Given the description of an element on the screen output the (x, y) to click on. 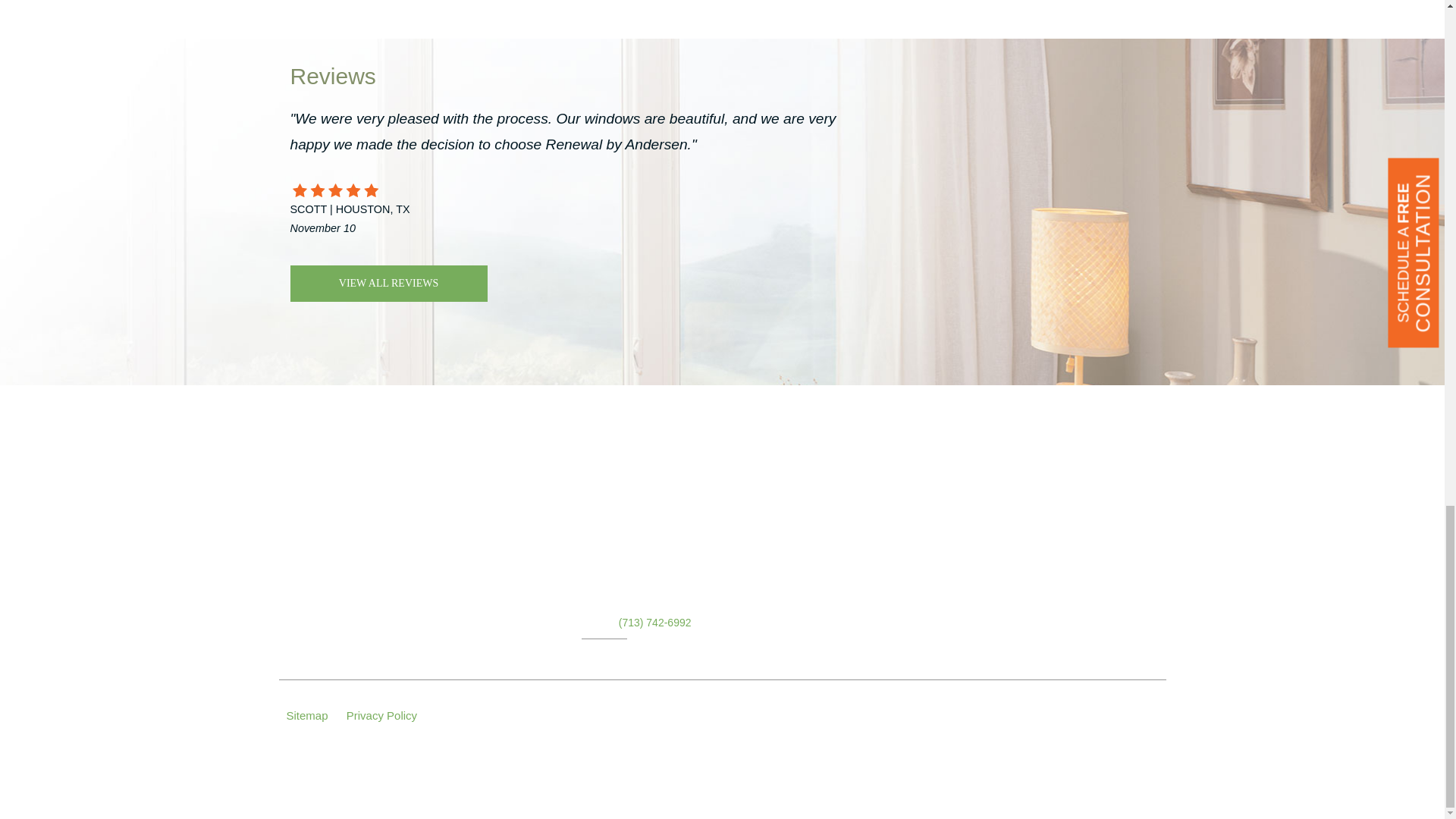
master-installer (1051, 609)
View Our BBB Business Profile (1118, 714)
Renewal by Andersen of Houston (371, 597)
